Given the description of an element on the screen output the (x, y) to click on. 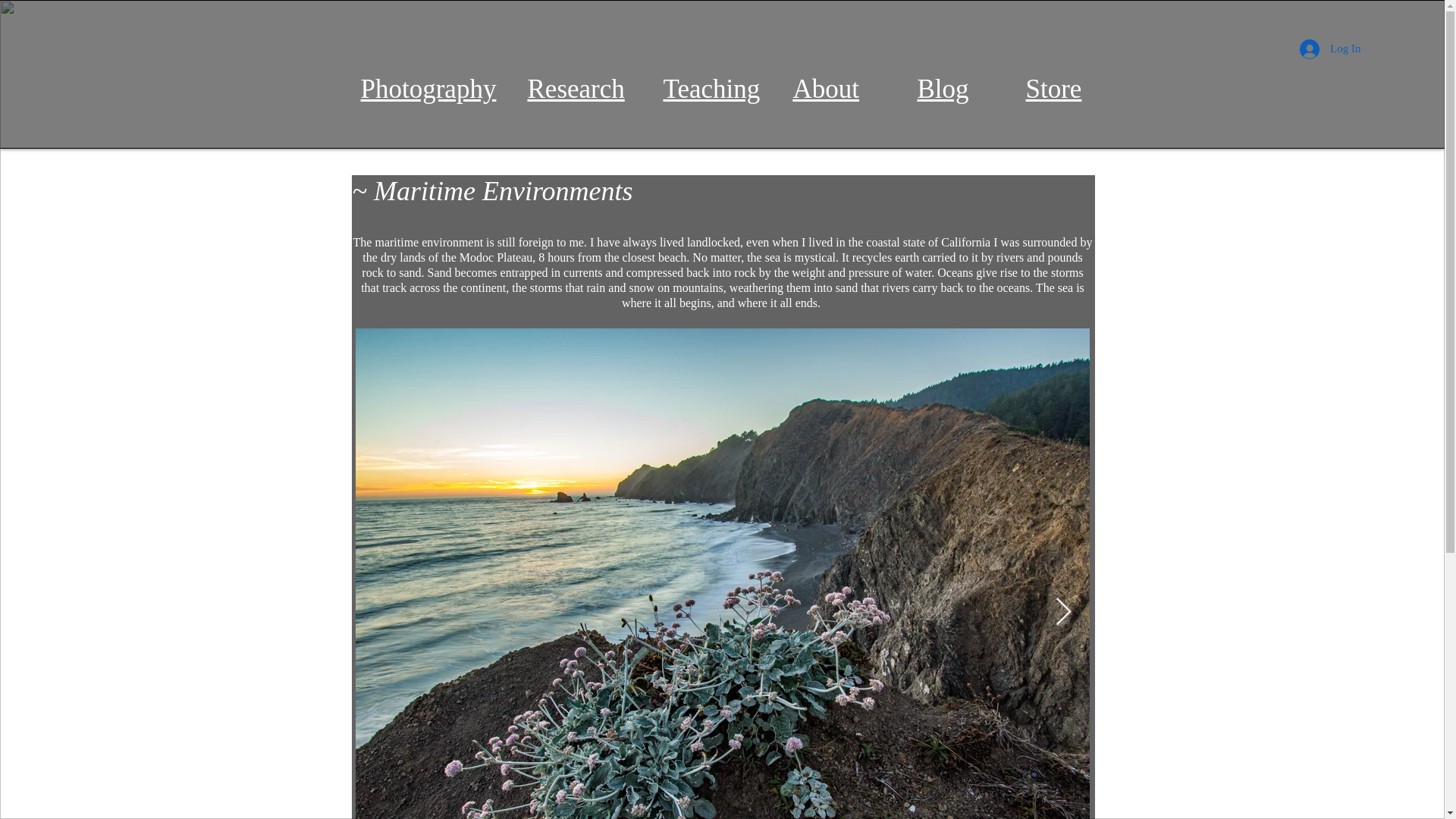
Photography (428, 89)
Teaching (711, 89)
Log In (1329, 49)
Blog (943, 89)
Store (1053, 89)
About (826, 89)
Research (575, 89)
